Given the description of an element on the screen output the (x, y) to click on. 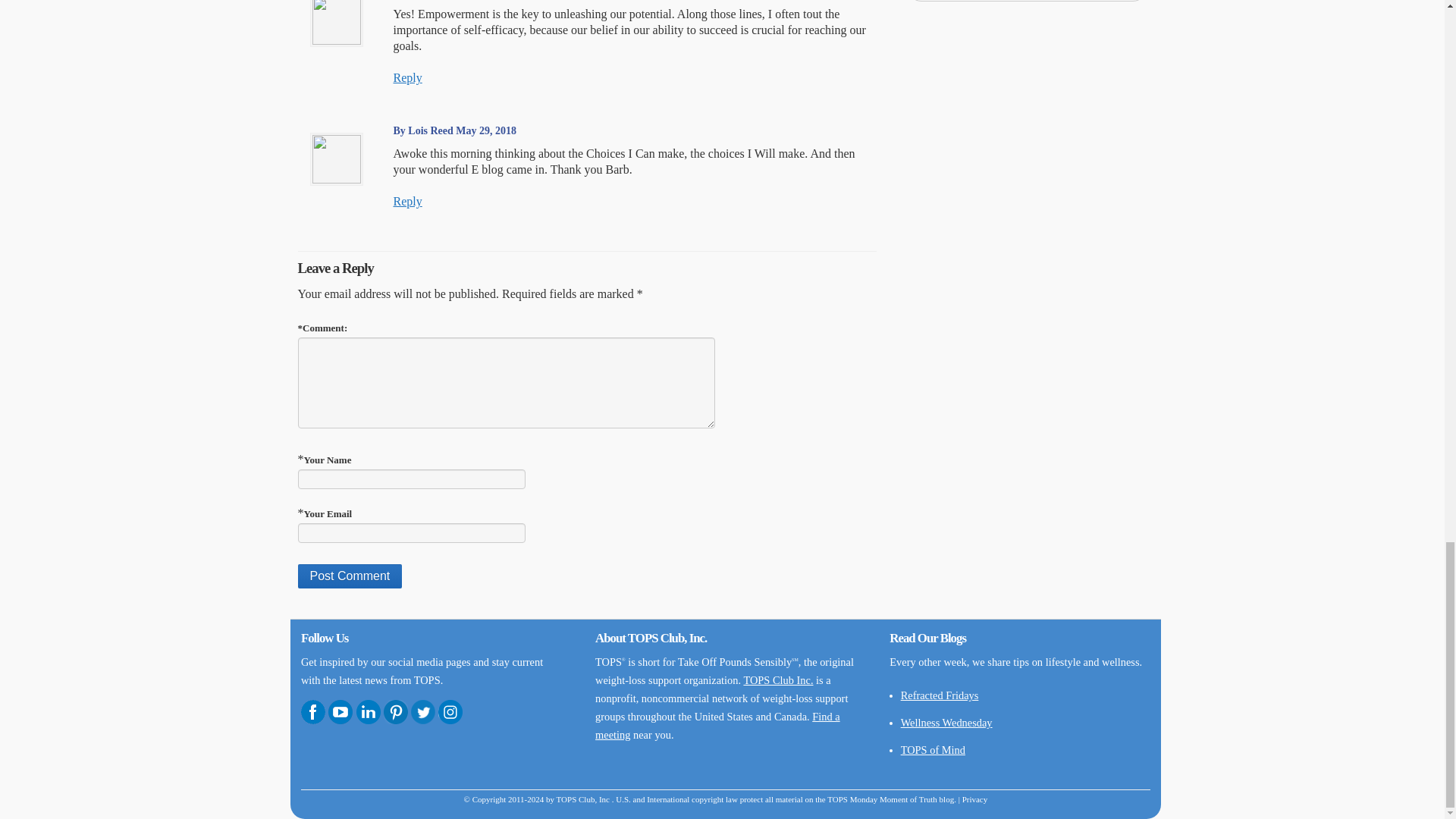
Post Comment (349, 576)
Reply (407, 77)
Reply (407, 201)
